Given the description of an element on the screen output the (x, y) to click on. 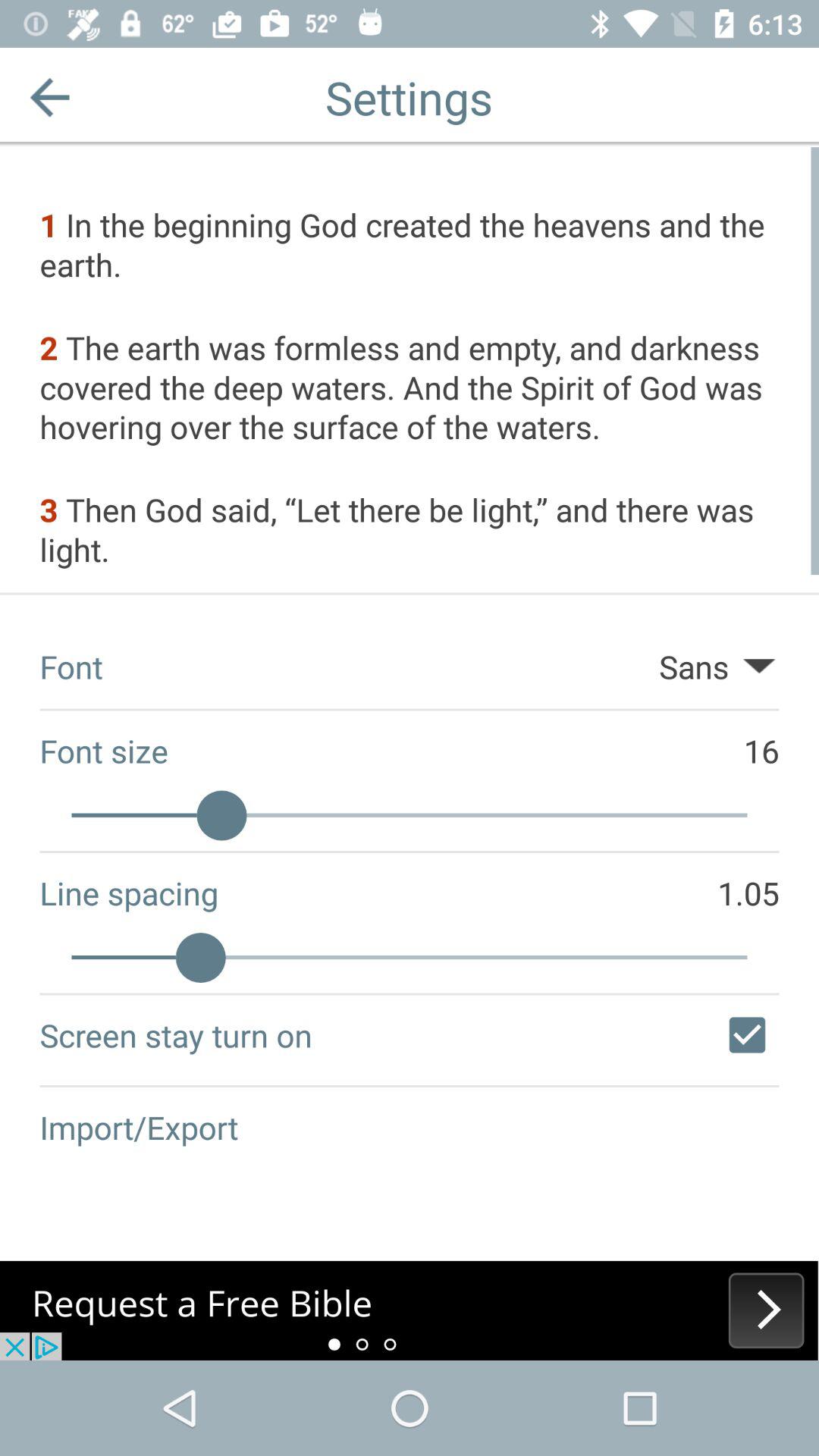
go back (49, 97)
